Given the description of an element on the screen output the (x, y) to click on. 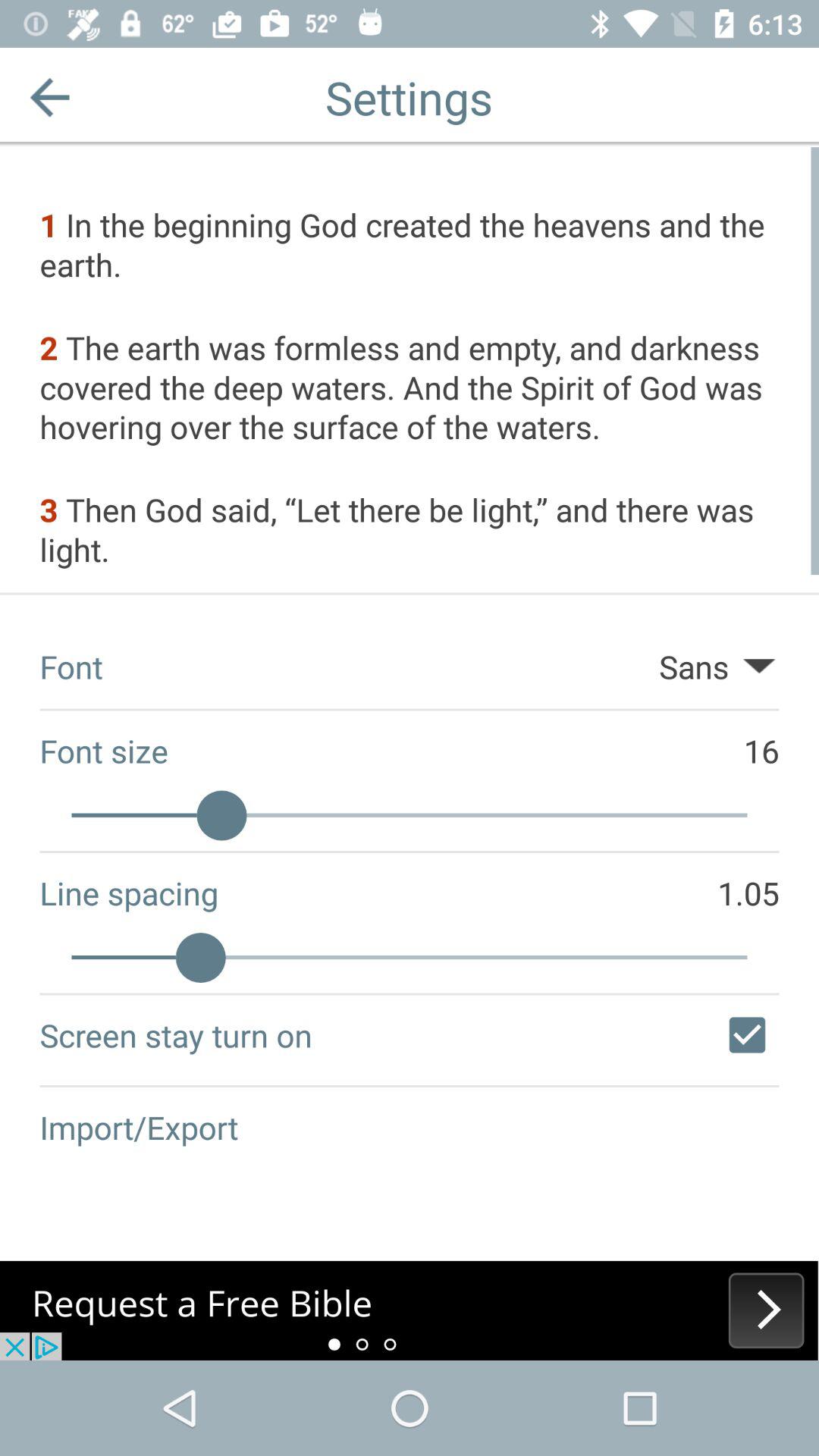
go back (49, 97)
